Given the description of an element on the screen output the (x, y) to click on. 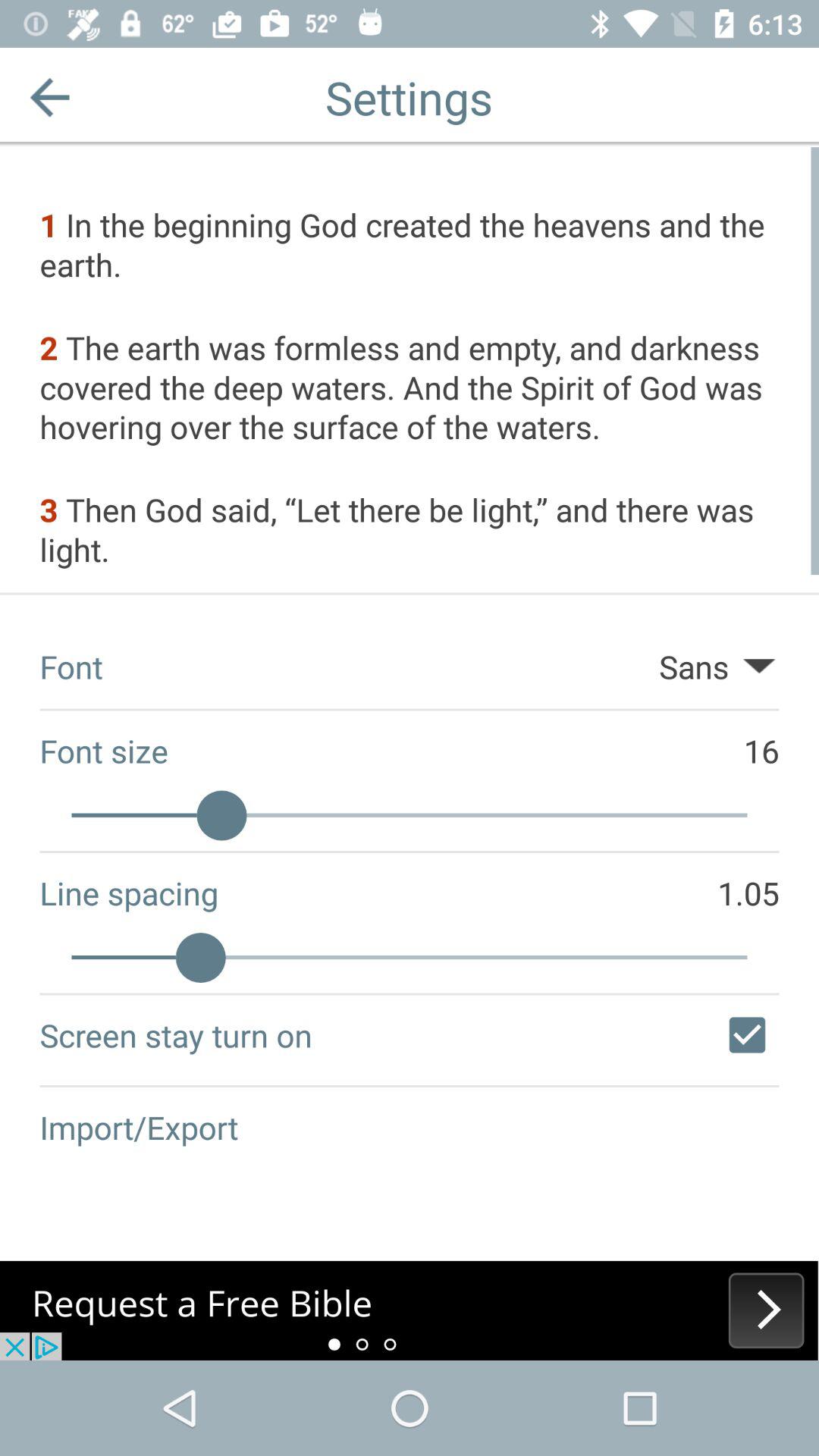
go back (49, 97)
